Given the description of an element on the screen output the (x, y) to click on. 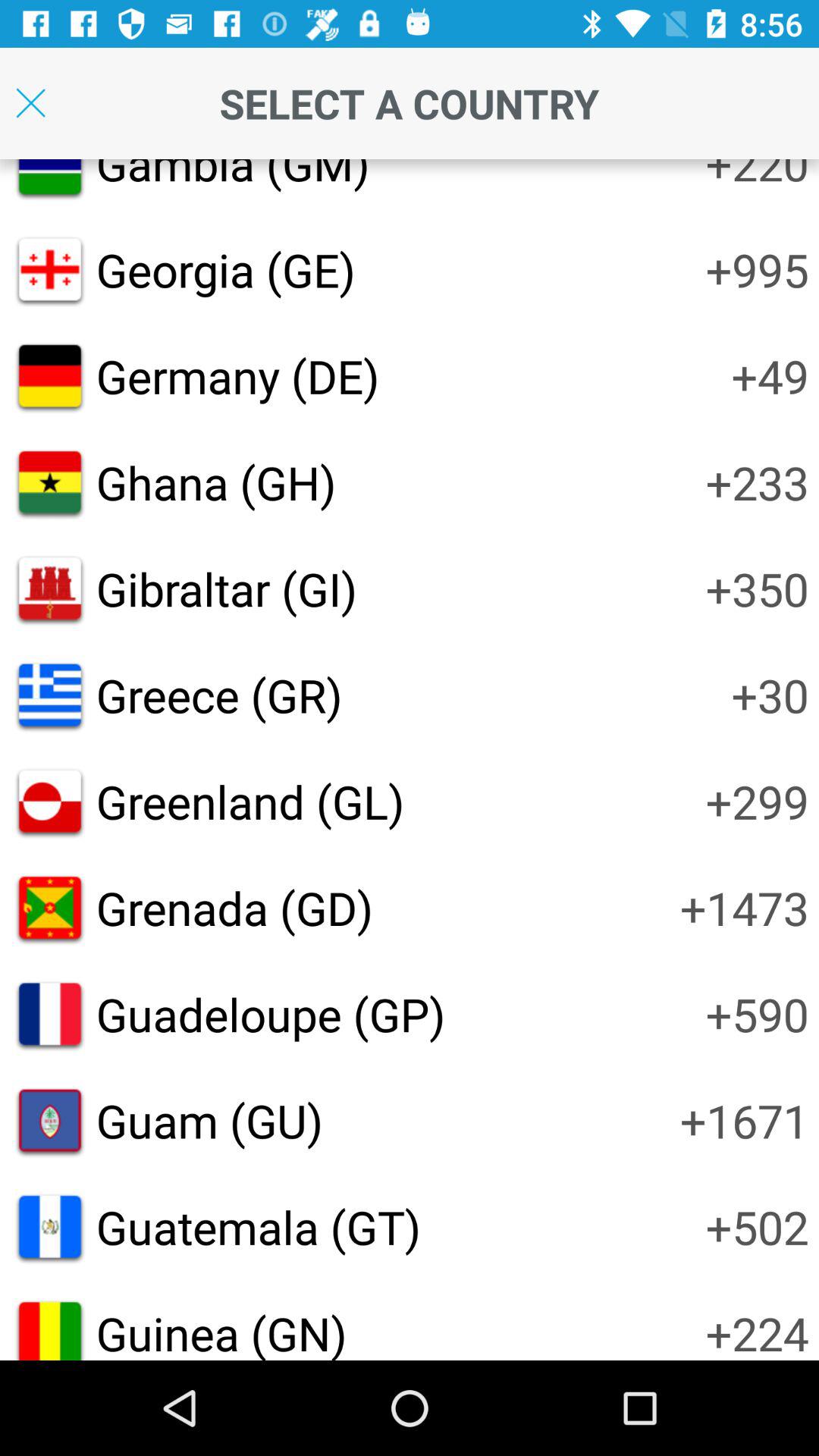
select the icon to the right of guatemala (gt) item (756, 1226)
